Given the description of an element on the screen output the (x, y) to click on. 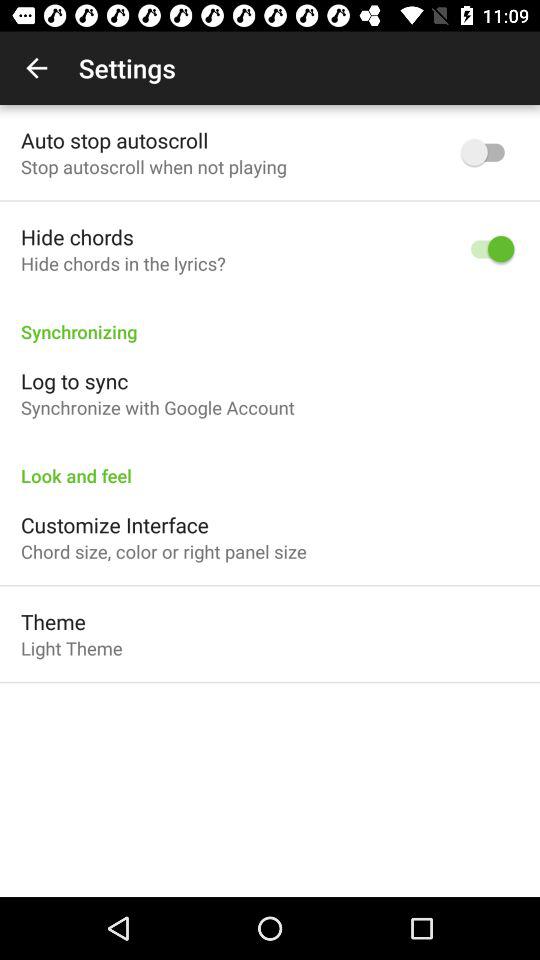
click look and feel item (270, 465)
